Given the description of an element on the screen output the (x, y) to click on. 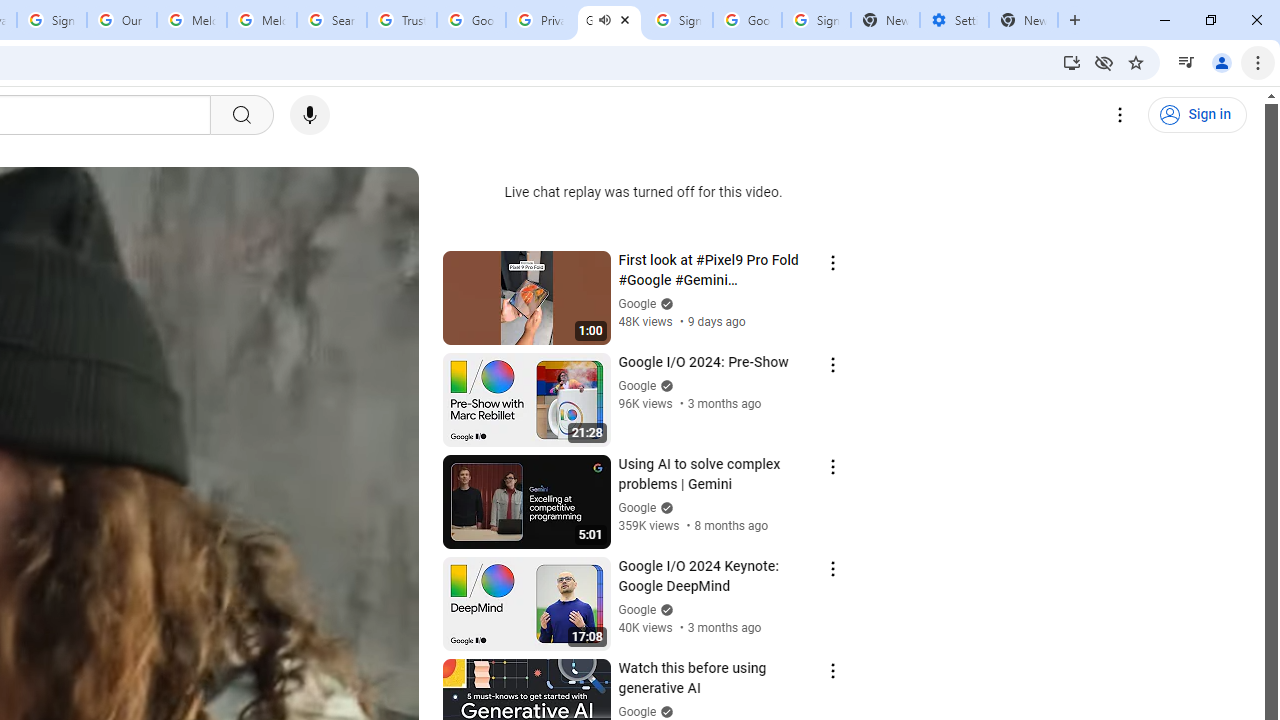
Settings - Addresses and more (954, 20)
Sign in - Google Accounts (677, 20)
Trusted Information and Content - Google Safety Center (401, 20)
Verified (664, 711)
